Given the description of an element on the screen output the (x, y) to click on. 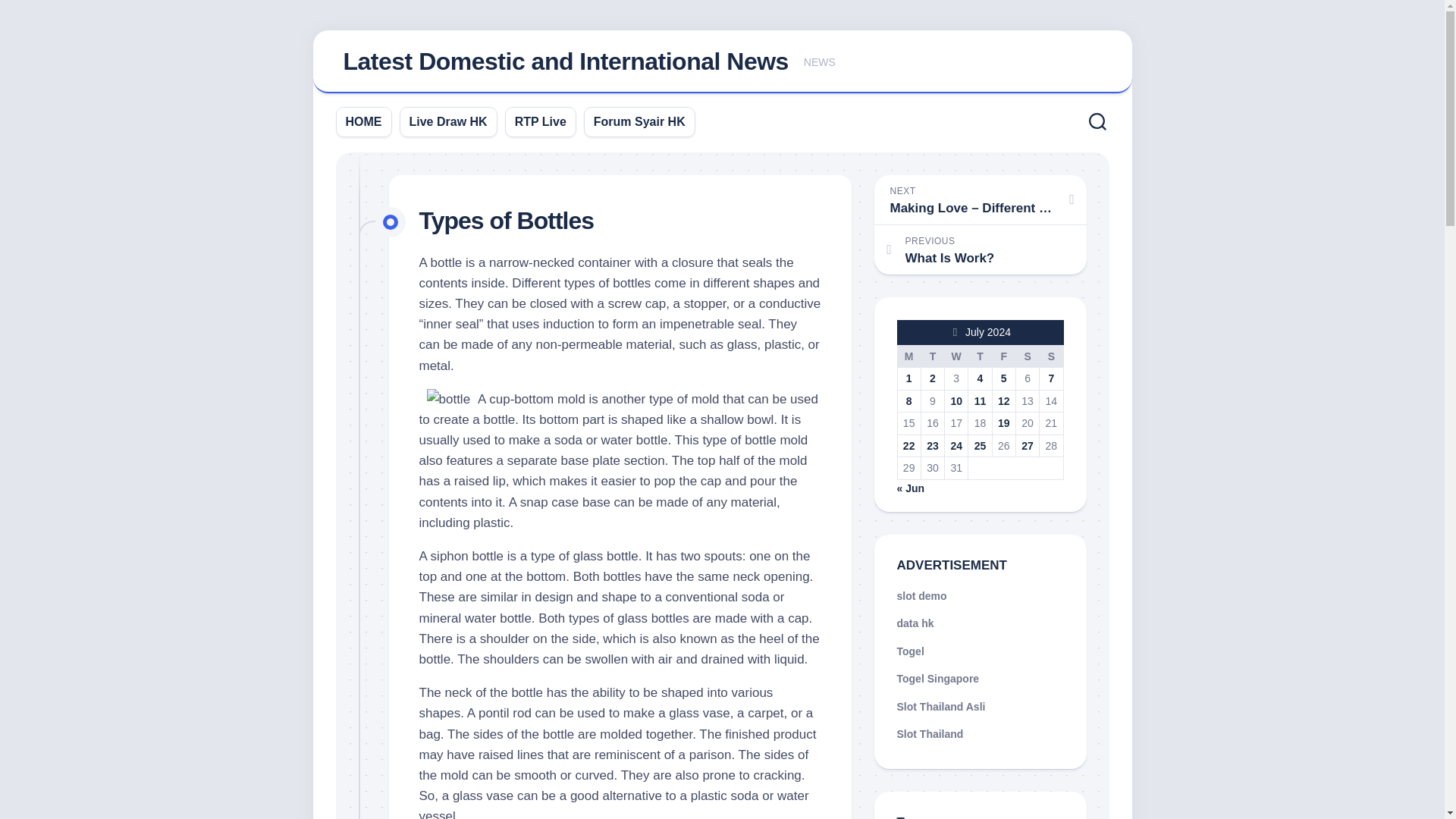
Forum Syair HK (639, 121)
Wednesday (956, 355)
data hk (914, 623)
10 (956, 399)
11 (980, 399)
Latest Domestic and International News (564, 61)
19 (1003, 422)
Togel (909, 650)
Tuesday (931, 355)
Togel Singapore (937, 678)
RTP Live (540, 121)
HOME (363, 121)
22 (908, 445)
Slot Thailand (929, 734)
Live Draw HK (448, 121)
